Given the description of an element on the screen output the (x, y) to click on. 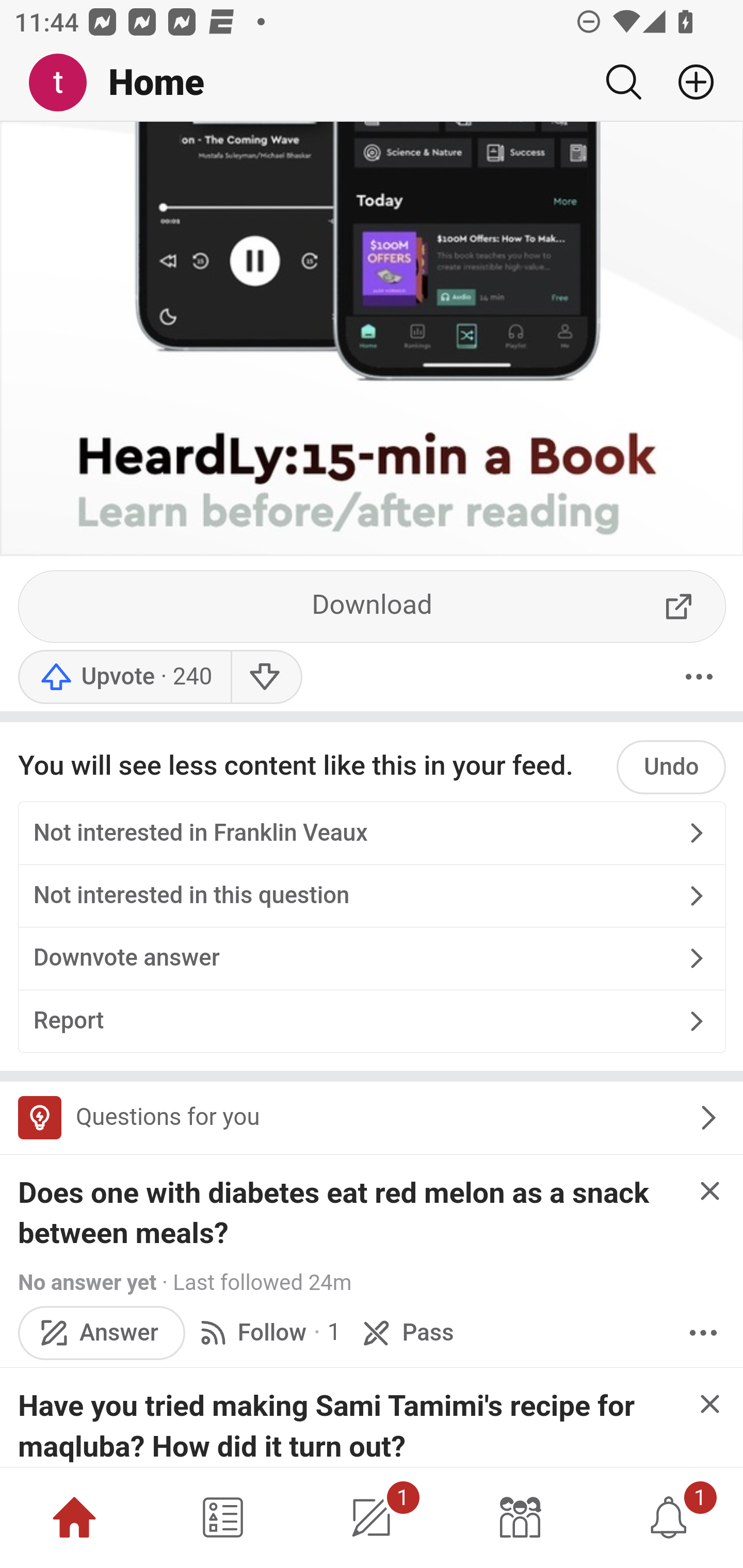
Me (64, 83)
Search (623, 82)
Add (688, 82)
Download ExternalLink (372, 608)
Upvote (124, 678)
Downvote (266, 678)
More (699, 678)
Undo (671, 768)
Not interested in Franklin Veaux (371, 834)
Not interested in this question (371, 896)
Downvote answer (371, 960)
Report (371, 1022)
Questions for you (371, 1119)
Hide (709, 1192)
No answer yet (86, 1284)
Answer (101, 1333)
Follow · 1 (267, 1333)
Pass (405, 1333)
More (703, 1333)
Hide (709, 1405)
1 (371, 1517)
1 (668, 1517)
